Given the description of an element on the screen output the (x, y) to click on. 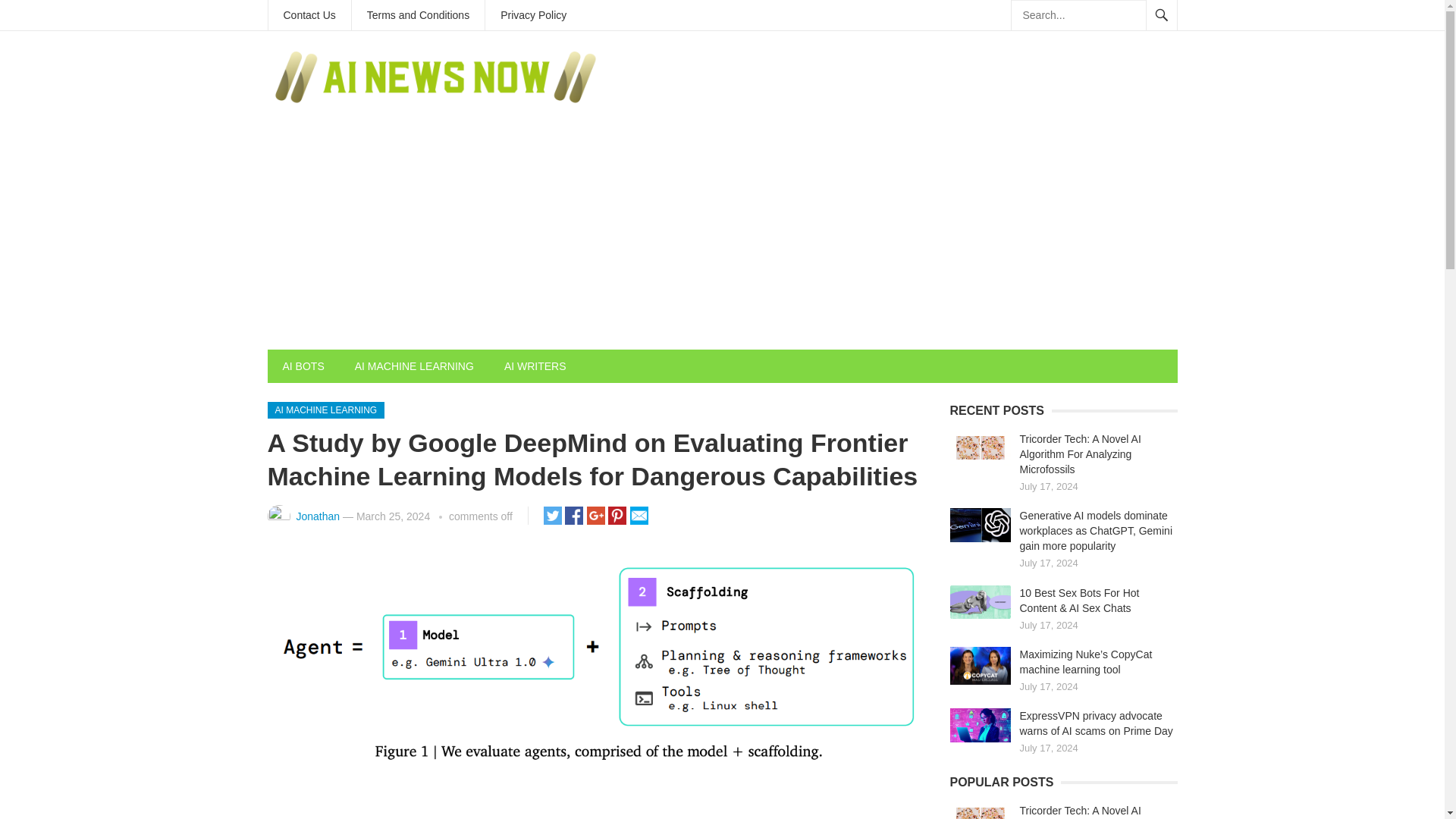
AI MACHINE LEARNING (325, 410)
View all posts in AI Machine Learning (325, 410)
Contact Us (308, 15)
ExpressVPN privacy advocate warns of AI scams on Prime Day (1095, 723)
Posts by Jonathan (317, 516)
AI MACHINE LEARNING (414, 366)
Jonathan (317, 516)
Terms and Conditions (418, 15)
Privacy Policy (532, 15)
AI BOTS (302, 366)
